Given the description of an element on the screen output the (x, y) to click on. 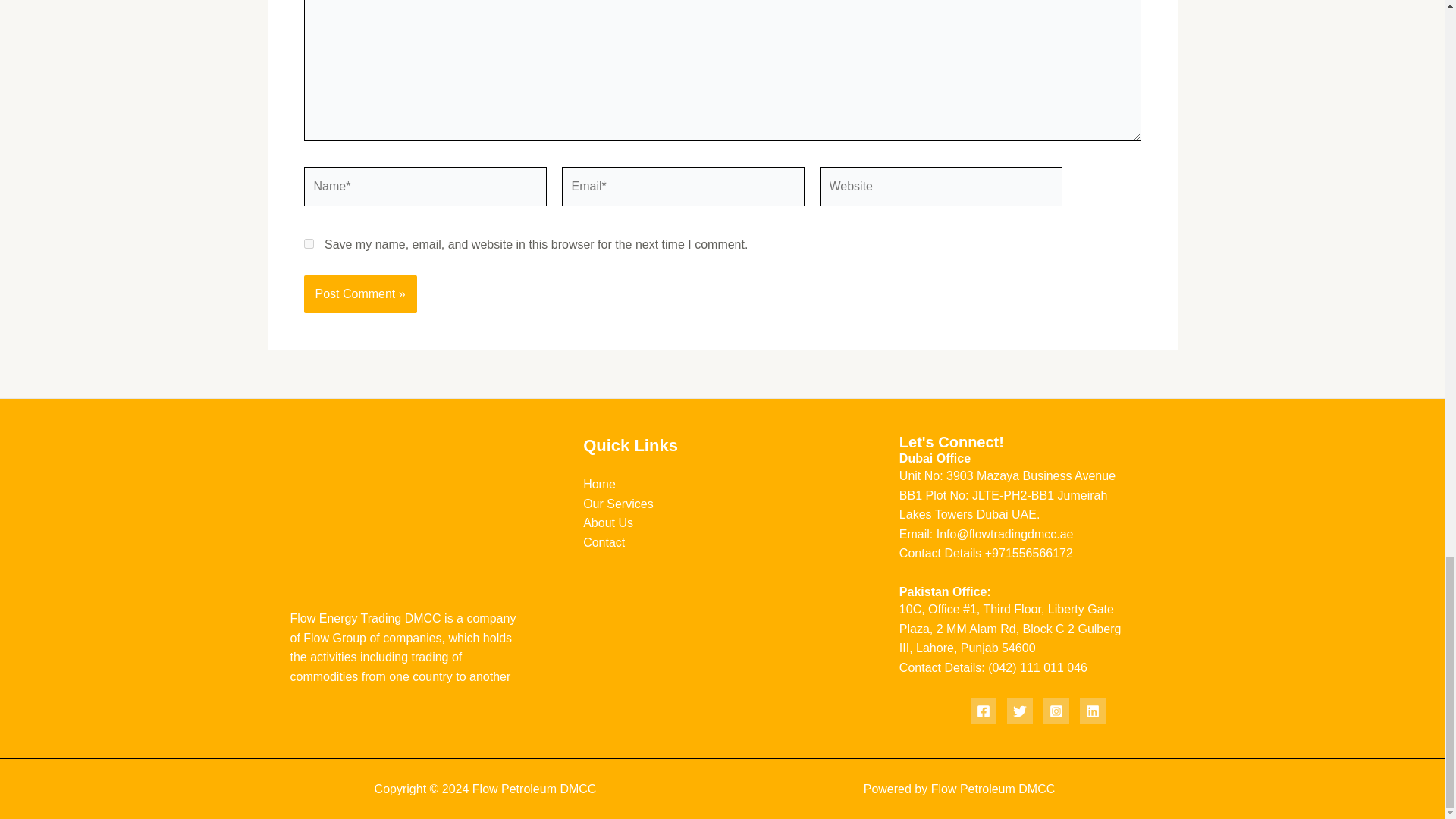
Flow Petroleum DMCC (993, 788)
About Us (608, 522)
Our Services (617, 503)
Home (599, 483)
Contact (603, 542)
yes (307, 243)
